Given the description of an element on the screen output the (x, y) to click on. 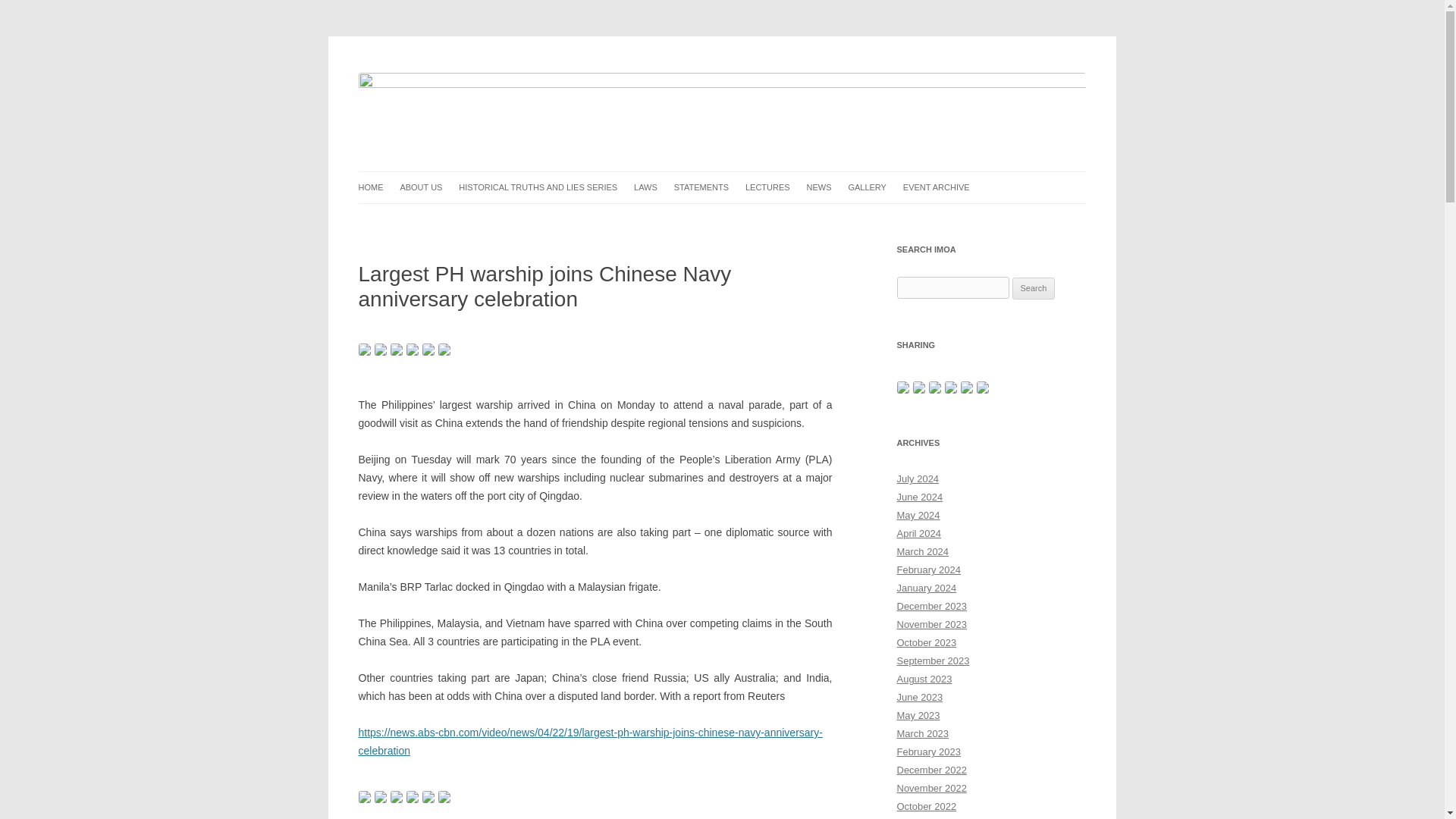
Search (1033, 288)
Share on Reddit (395, 349)
Institute for Maritime and Ocean Affairs (542, 72)
Relevant Philippine Laws (709, 218)
RELEVANT PHILIPPINE LAWS (709, 218)
Skip to content (757, 176)
Share on Facebook (363, 349)
ABOUT US (420, 187)
HISTORICAL TRUTHS AND LIES SERIES (537, 187)
Share on Linkedin (427, 349)
Institute for Maritime and Ocean Affairs (542, 72)
Share on Twitter (380, 349)
Skip to content (757, 176)
Pin it with Pinterest (412, 349)
